Given the description of an element on the screen output the (x, y) to click on. 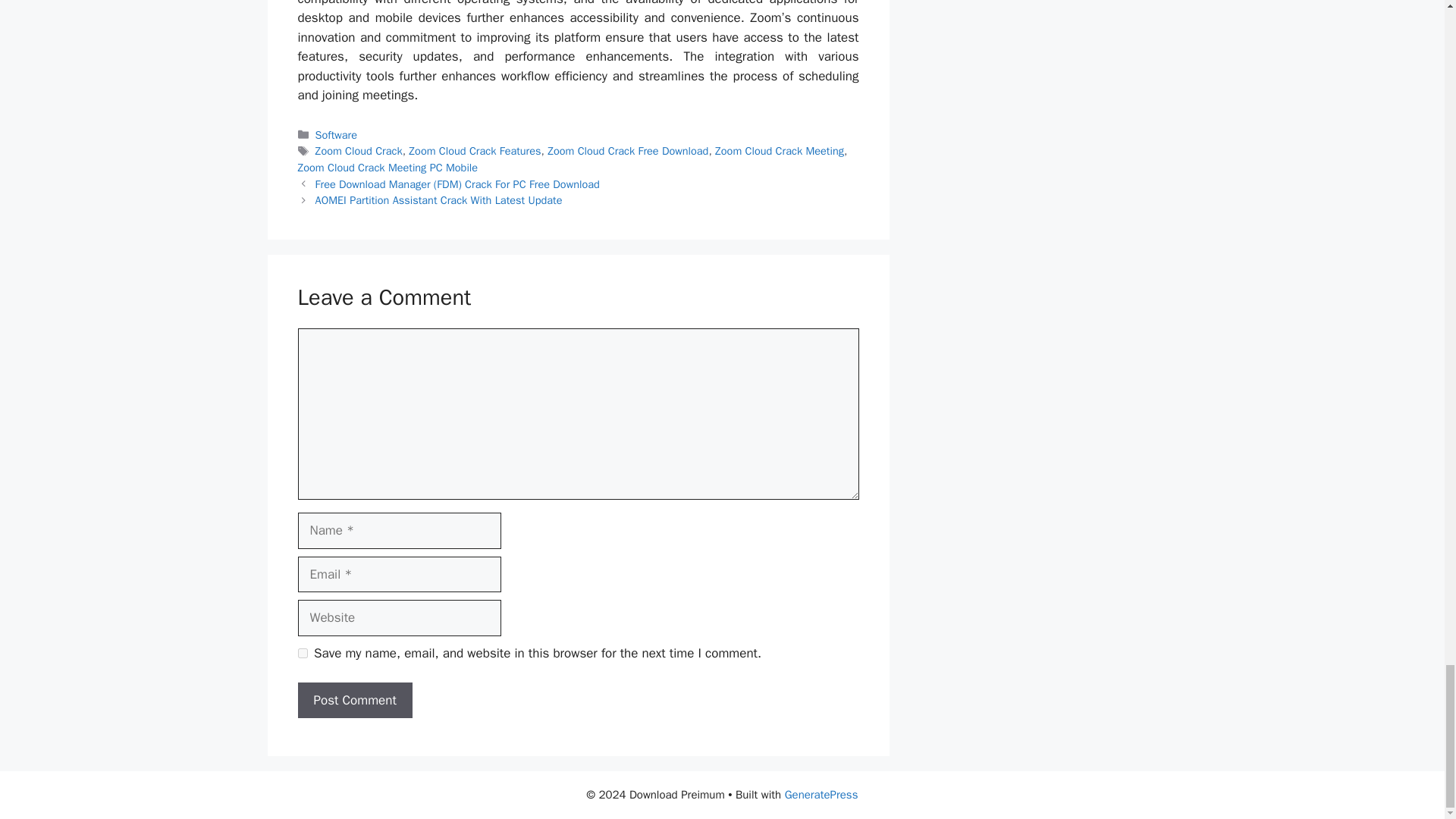
Post Comment (354, 700)
Zoom Cloud Crack Meeting (779, 151)
Post Comment (354, 700)
Zoom Cloud Crack Features (474, 151)
Zoom Cloud Crack Meeting PC Mobile (387, 167)
AOMEI Partition Assistant Crack With Latest Update (438, 200)
Zoom Cloud Crack Free Download (627, 151)
yes (302, 653)
Software (335, 134)
Zoom Cloud Crack (359, 151)
